Given the description of an element on the screen output the (x, y) to click on. 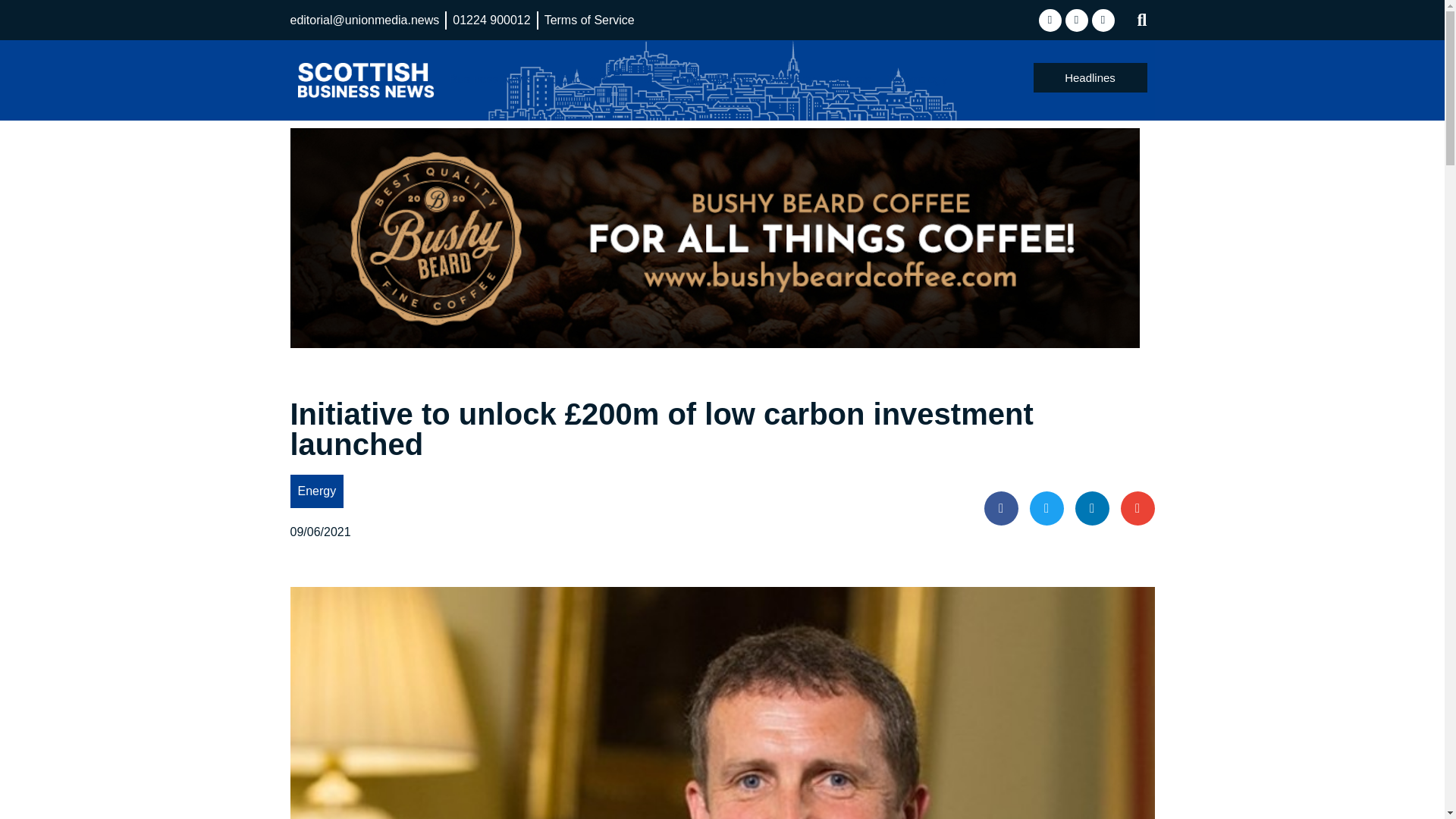
01224 900012 (490, 19)
Property (791, 78)
People (734, 78)
Legal (685, 78)
Sectors (850, 78)
Terms of Service (589, 19)
Business News (489, 78)
